Given the description of an element on the screen output the (x, y) to click on. 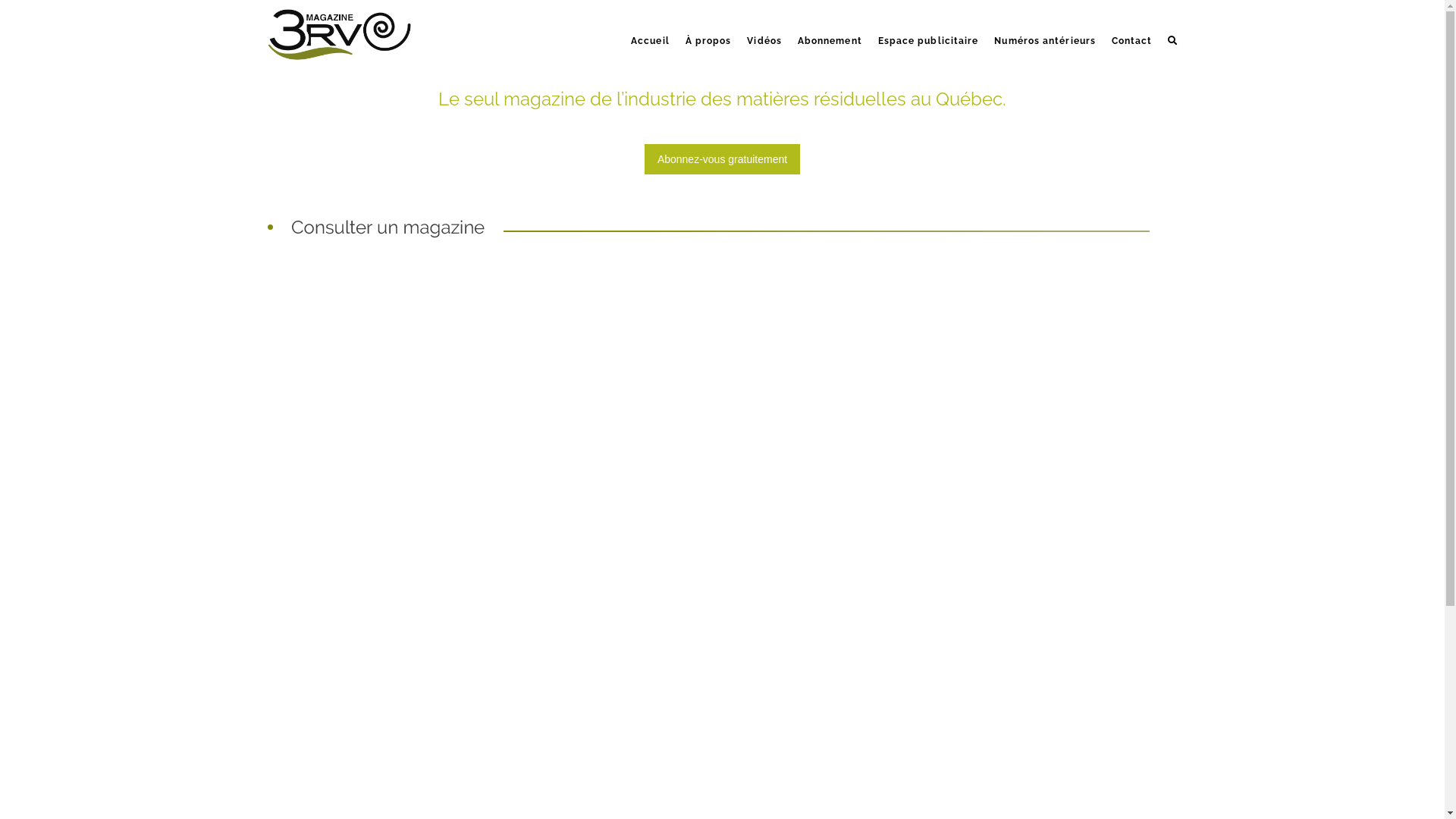
Abonnement Element type: text (829, 26)
Abonnez-vous gratuitement Element type: text (722, 159)
Accueil Element type: text (649, 26)
Contact Element type: text (1131, 26)
Espace publicitaire Element type: text (927, 26)
